Given the description of an element on the screen output the (x, y) to click on. 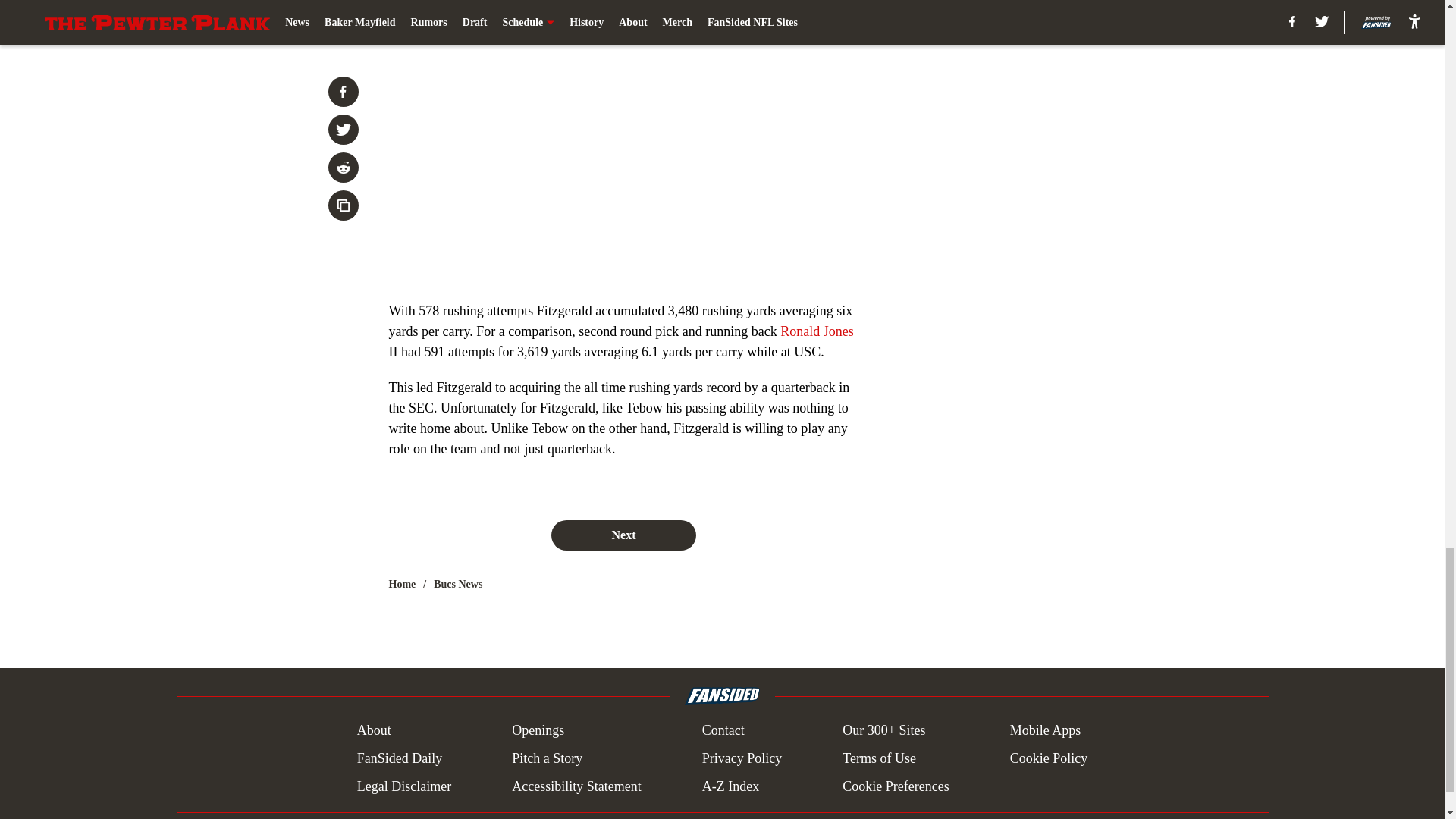
Openings (538, 730)
Next (622, 535)
Bucs News (457, 584)
Home (401, 584)
Ronald Jones (816, 331)
About (373, 730)
